Given the description of an element on the screen output the (x, y) to click on. 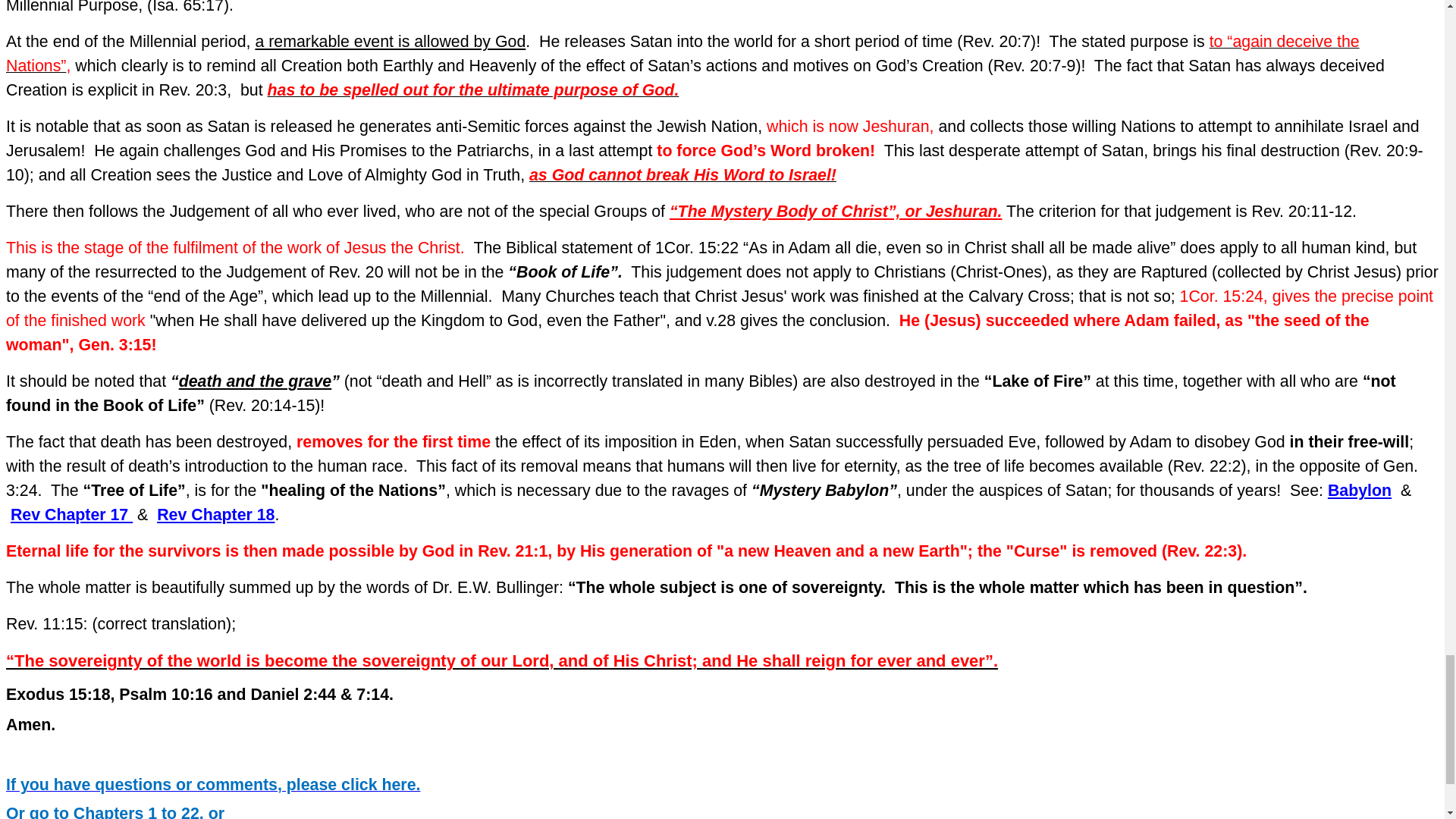
Or go to Chapters 1 to 22, or (114, 812)
If you have questions or comments, please click here. (212, 785)
Rev Chapter 18 (216, 515)
Rev Chapter 17  (71, 515)
Babylon (1359, 490)
Babylon (1359, 490)
